Given the description of an element on the screen output the (x, y) to click on. 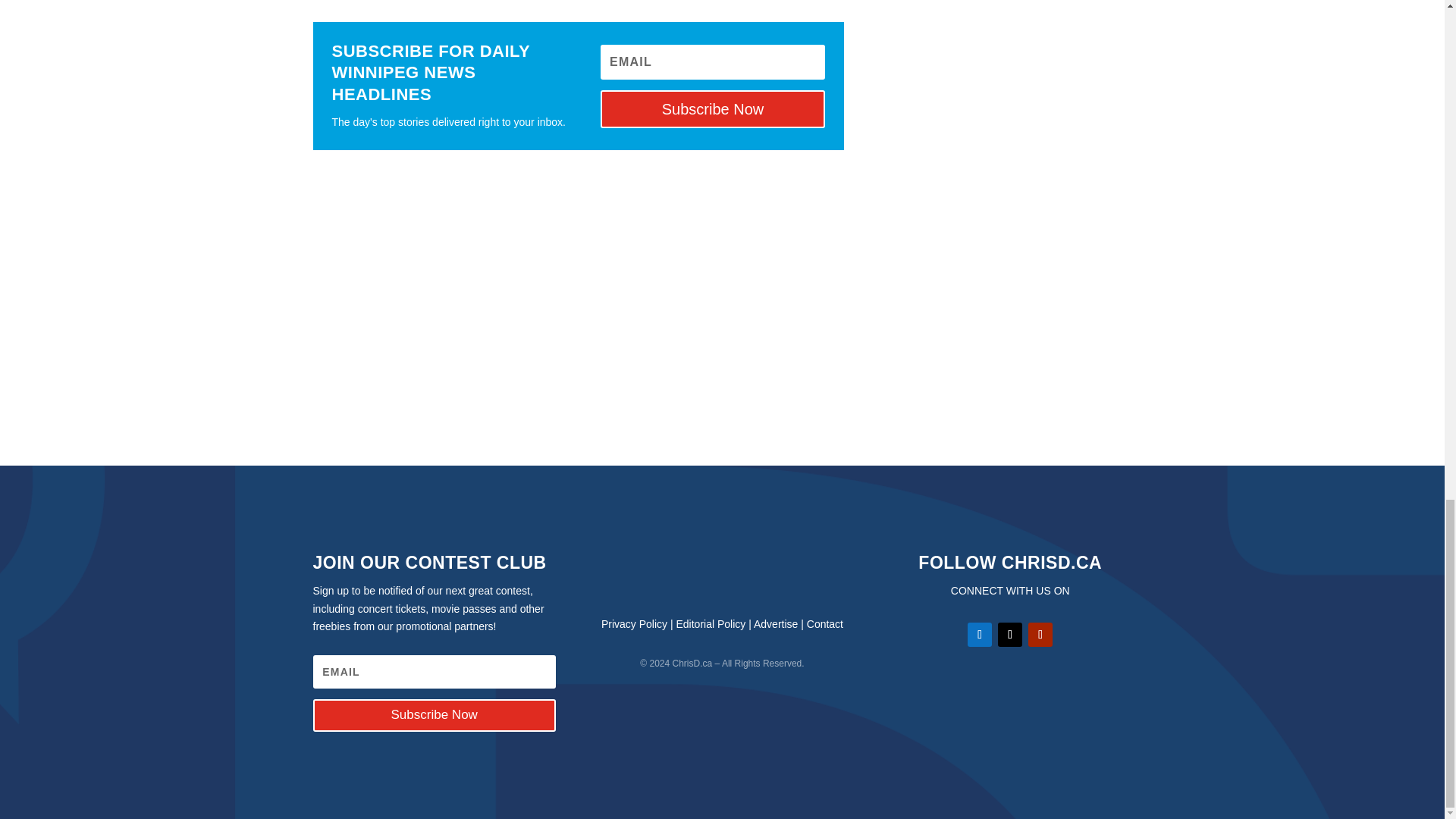
chrisd-logo-footer-300x92 (722, 572)
